Given the description of an element on the screen output the (x, y) to click on. 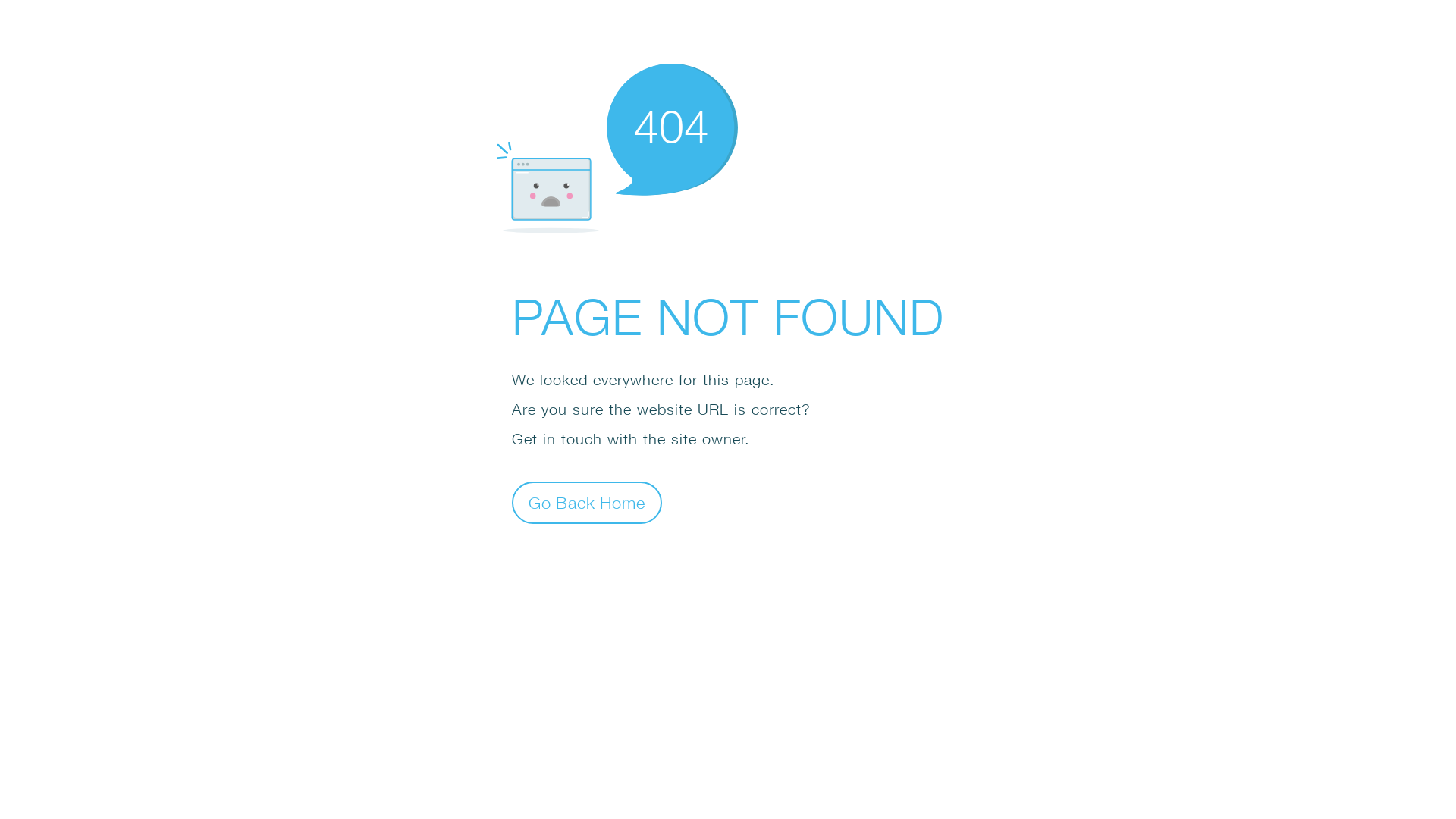
Go Back Home Element type: text (586, 502)
